Given the description of an element on the screen output the (x, y) to click on. 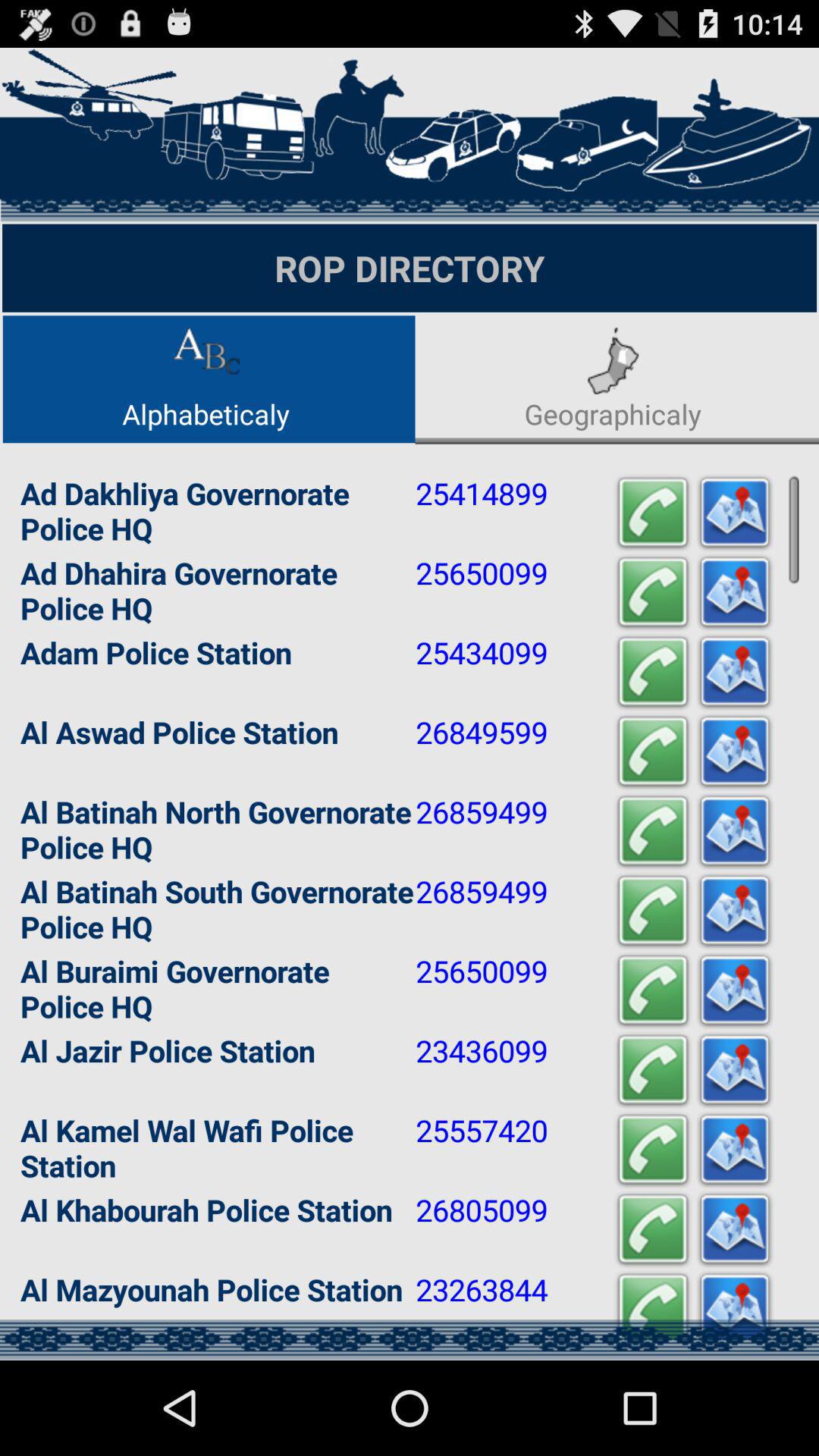
select the icon above 26859499 (652, 751)
